Given the description of an element on the screen output the (x, y) to click on. 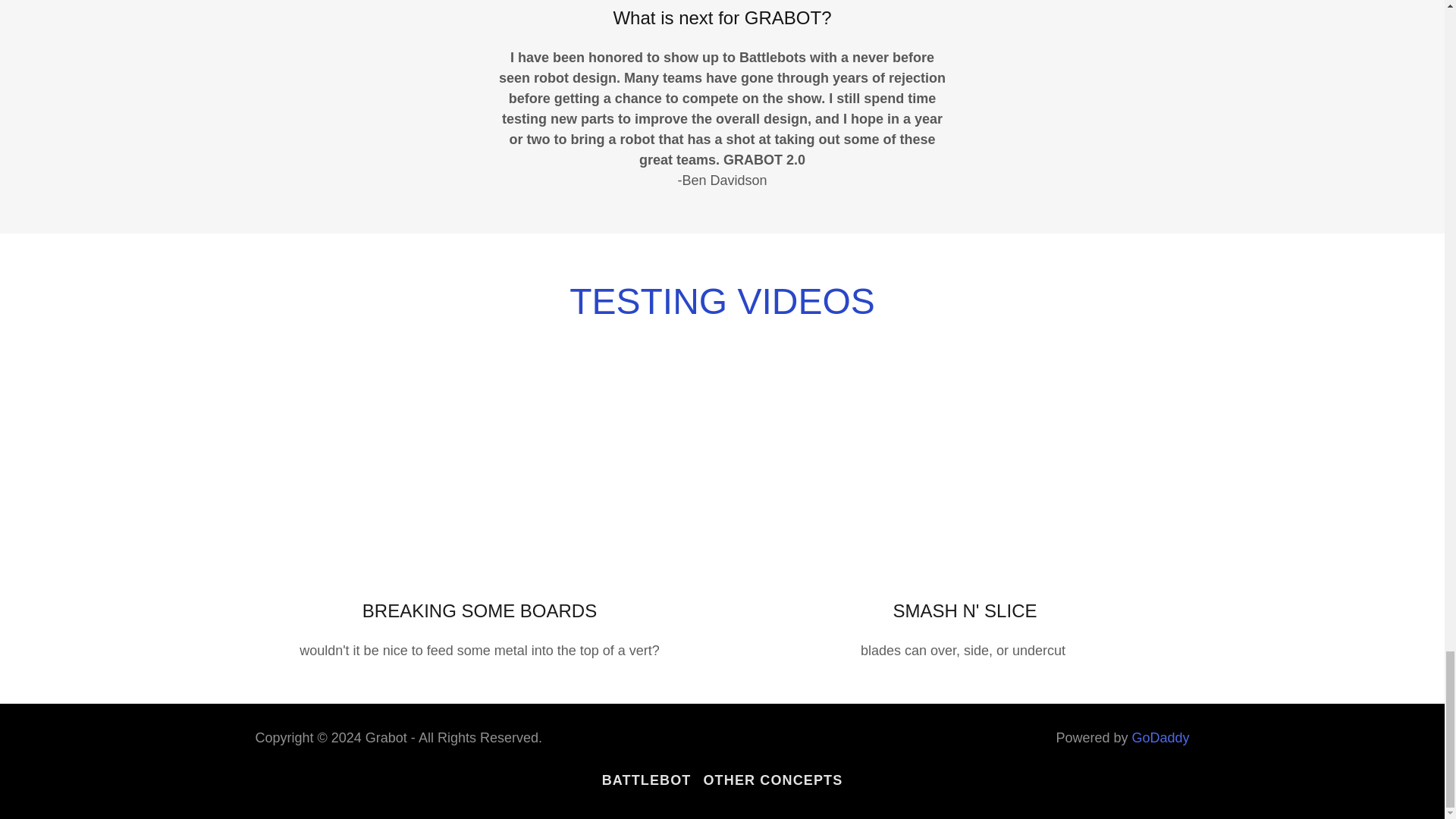
BATTLEBOT (646, 780)
GoDaddy (1160, 737)
OTHER CONCEPTS (772, 780)
